Given the description of an element on the screen output the (x, y) to click on. 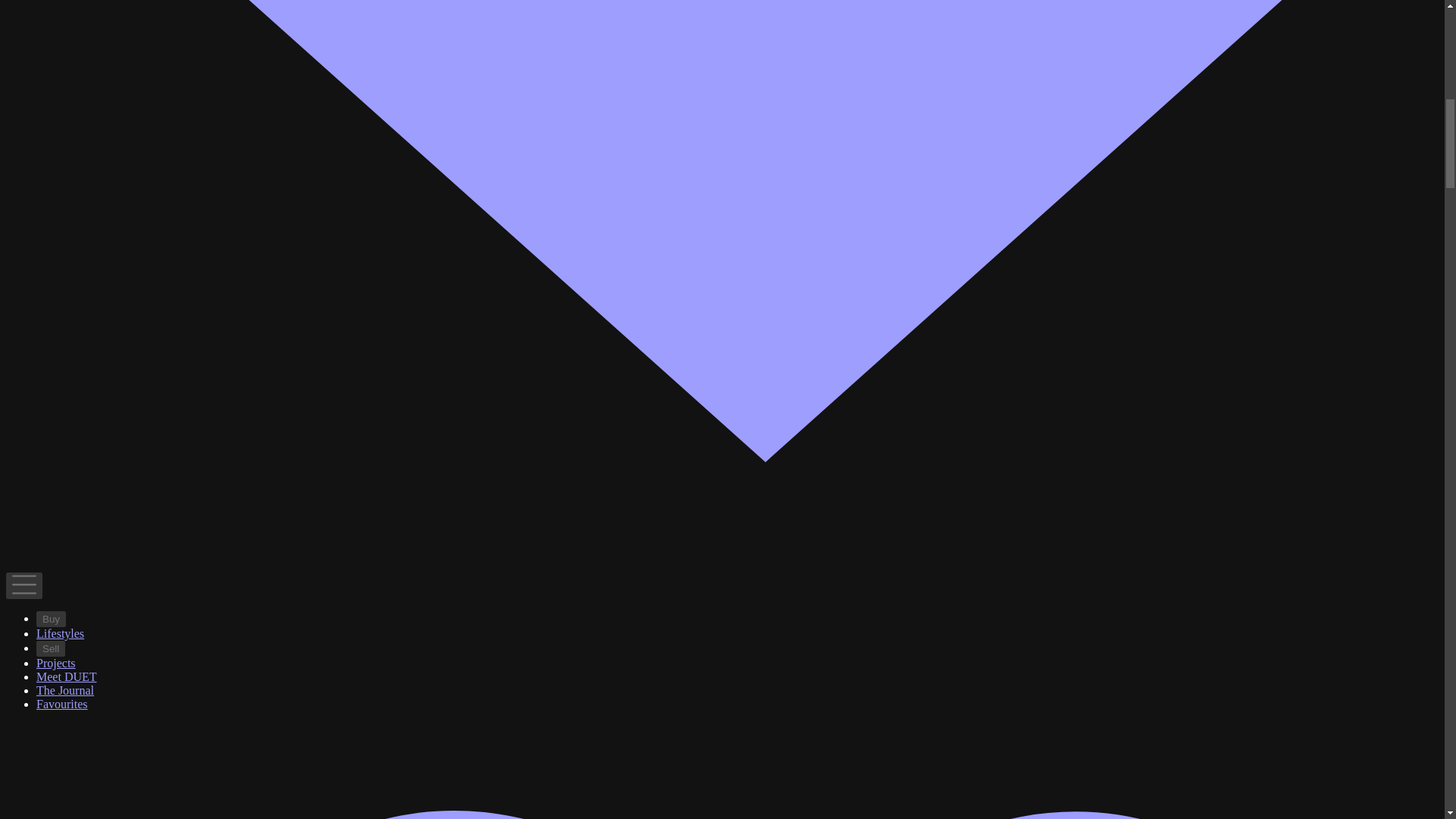
Projects (55, 662)
Sell (50, 648)
The Journal (65, 689)
Meet DUET (66, 676)
Buy (50, 618)
